Given the description of an element on the screen output the (x, y) to click on. 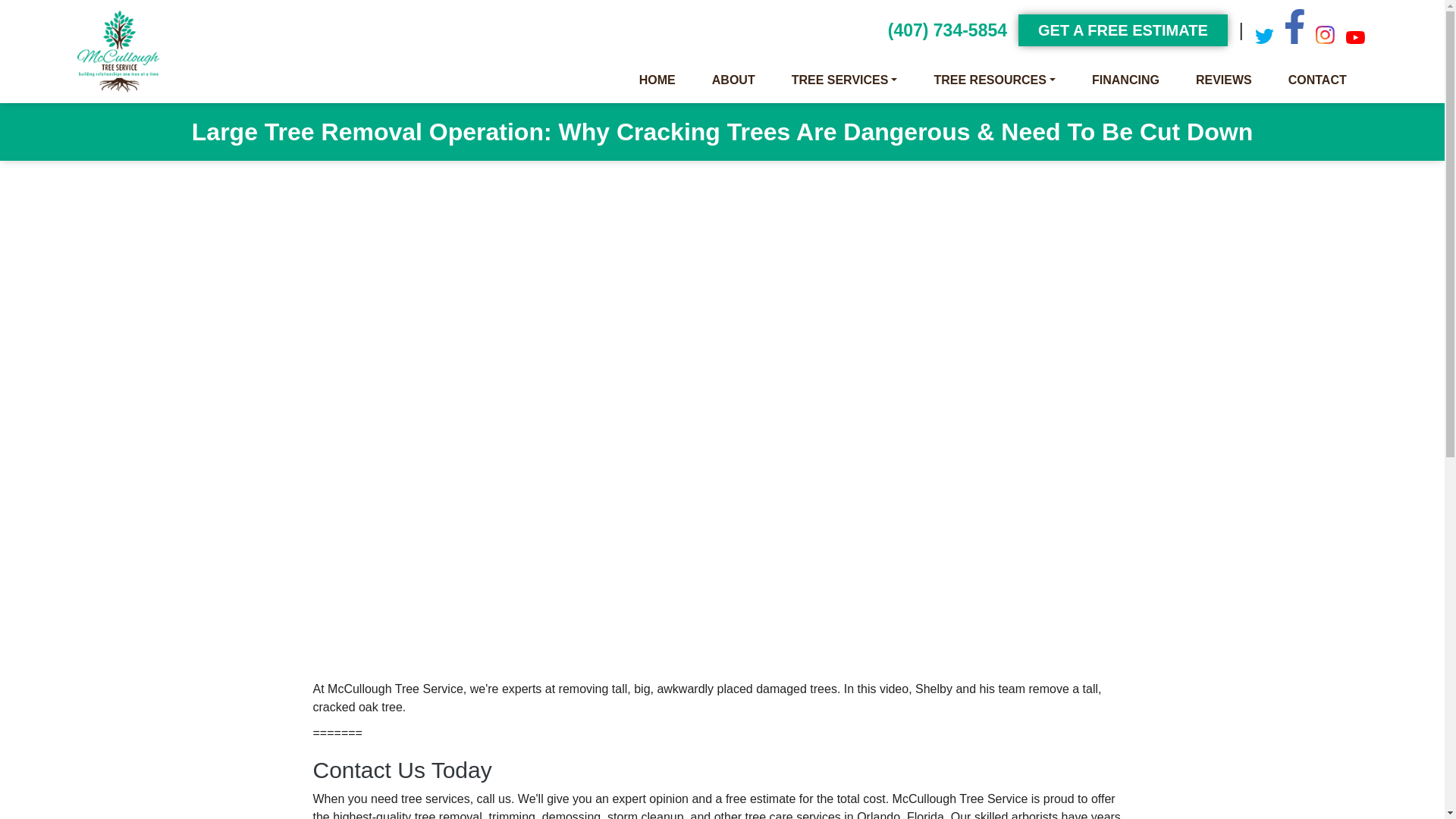
Tree Services (845, 79)
About Us (733, 79)
GET A FREE ESTIMATE (1122, 29)
REVIEWS (1223, 79)
TREE SERVICES (845, 79)
HOME (657, 79)
FINANCING (1126, 79)
CONTACT (1317, 79)
ABOUT (733, 79)
Contact Us (1317, 79)
Home (657, 79)
TREE RESOURCES (994, 79)
Reviews (1223, 79)
